Given the description of an element on the screen output the (x, y) to click on. 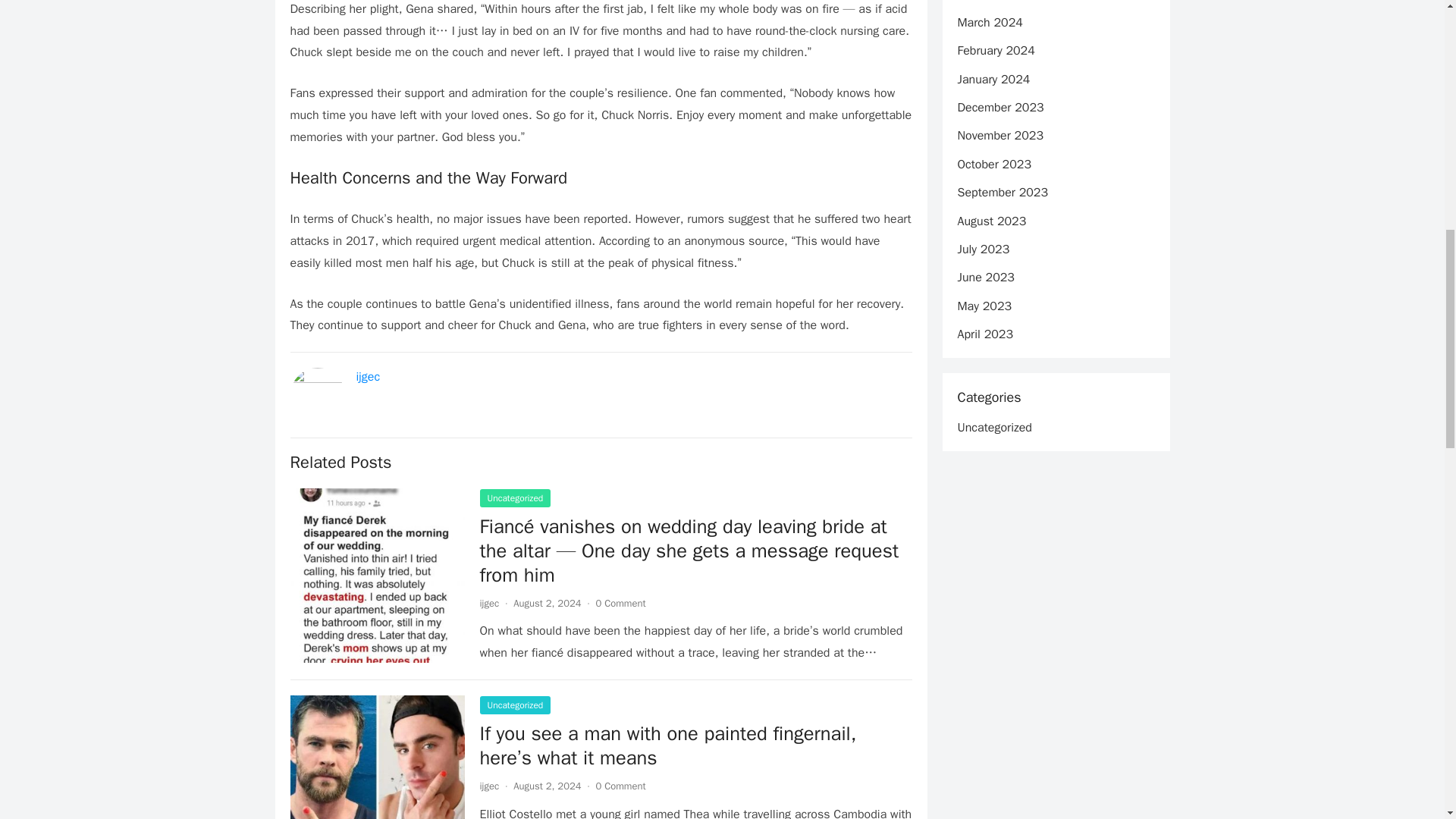
Uncategorized (514, 705)
Posts by ijgec (489, 603)
0 Comment (620, 785)
Uncategorized (514, 497)
0 Comment (620, 603)
ijgec (489, 785)
Posts by ijgec (489, 785)
ijgec (489, 603)
ijgec (368, 376)
